Given the description of an element on the screen output the (x, y) to click on. 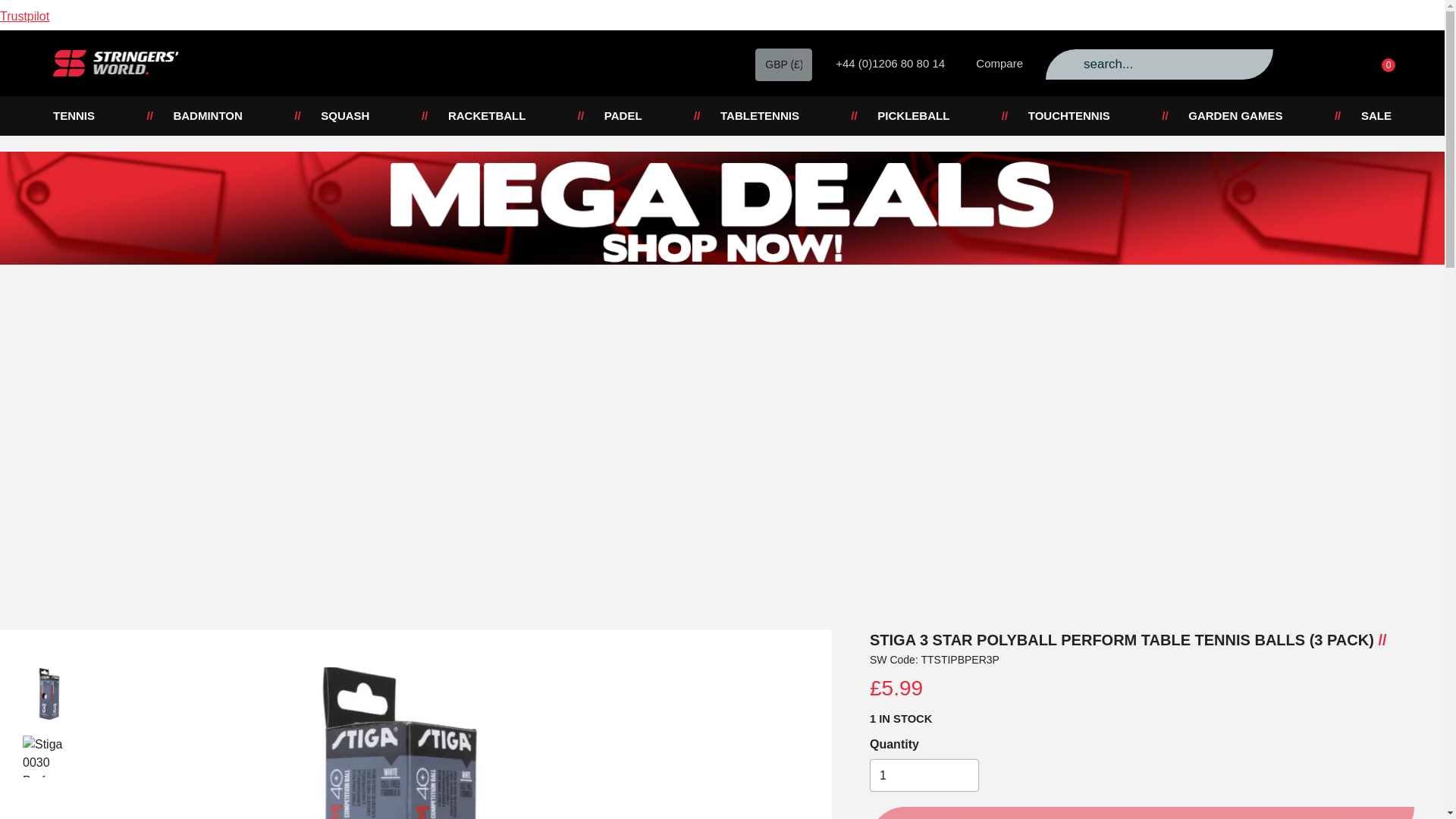
Search (1066, 64)
My Account (1305, 62)
My Account (1340, 62)
1 (923, 775)
0 (1378, 60)
Qty (923, 775)
View your shopping basket (1378, 60)
My Account (1305, 62)
Compare (991, 63)
TENNIS (73, 115)
